Given the description of an element on the screen output the (x, y) to click on. 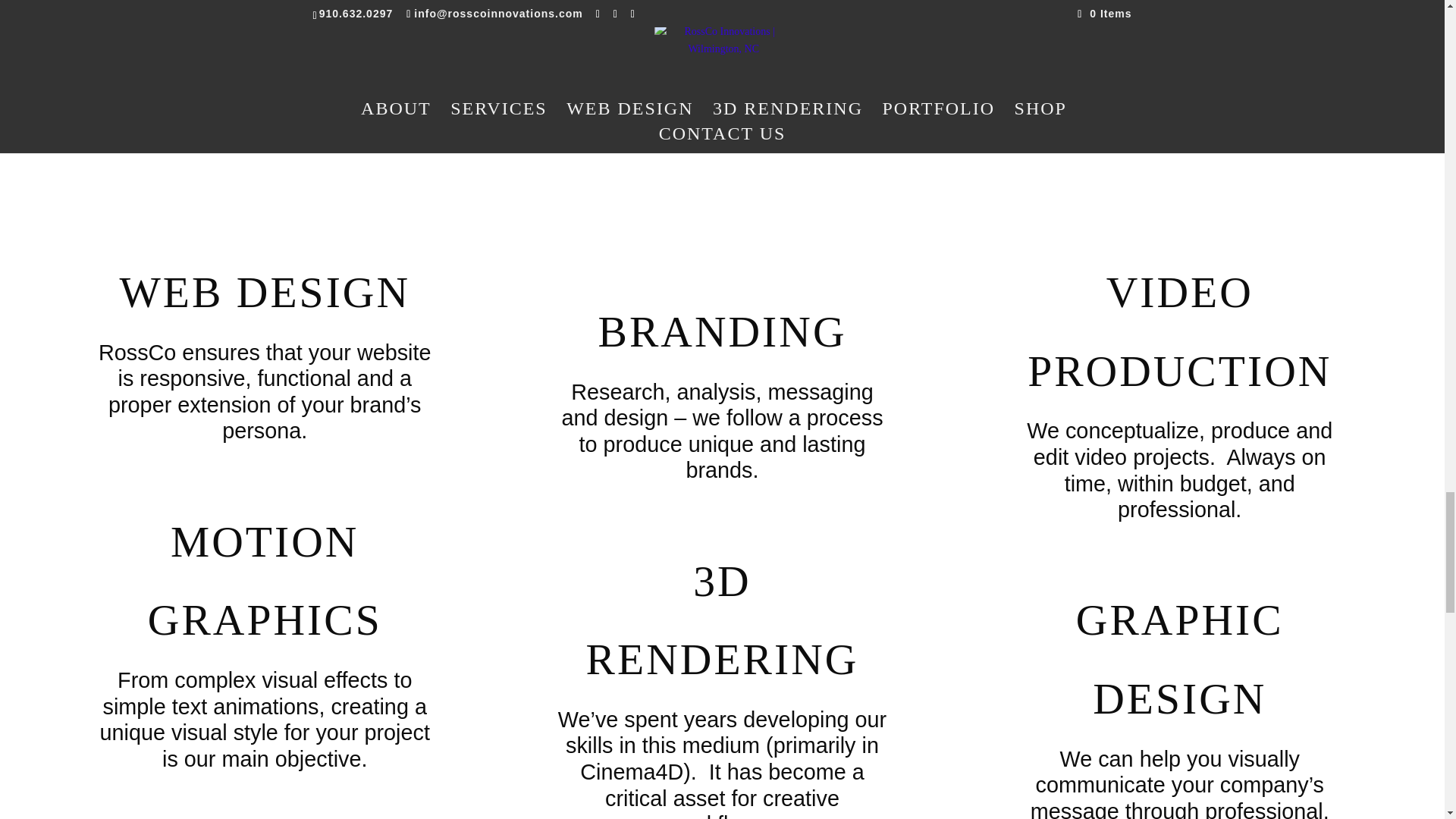
Learn More (721, 29)
